Given the description of an element on the screen output the (x, y) to click on. 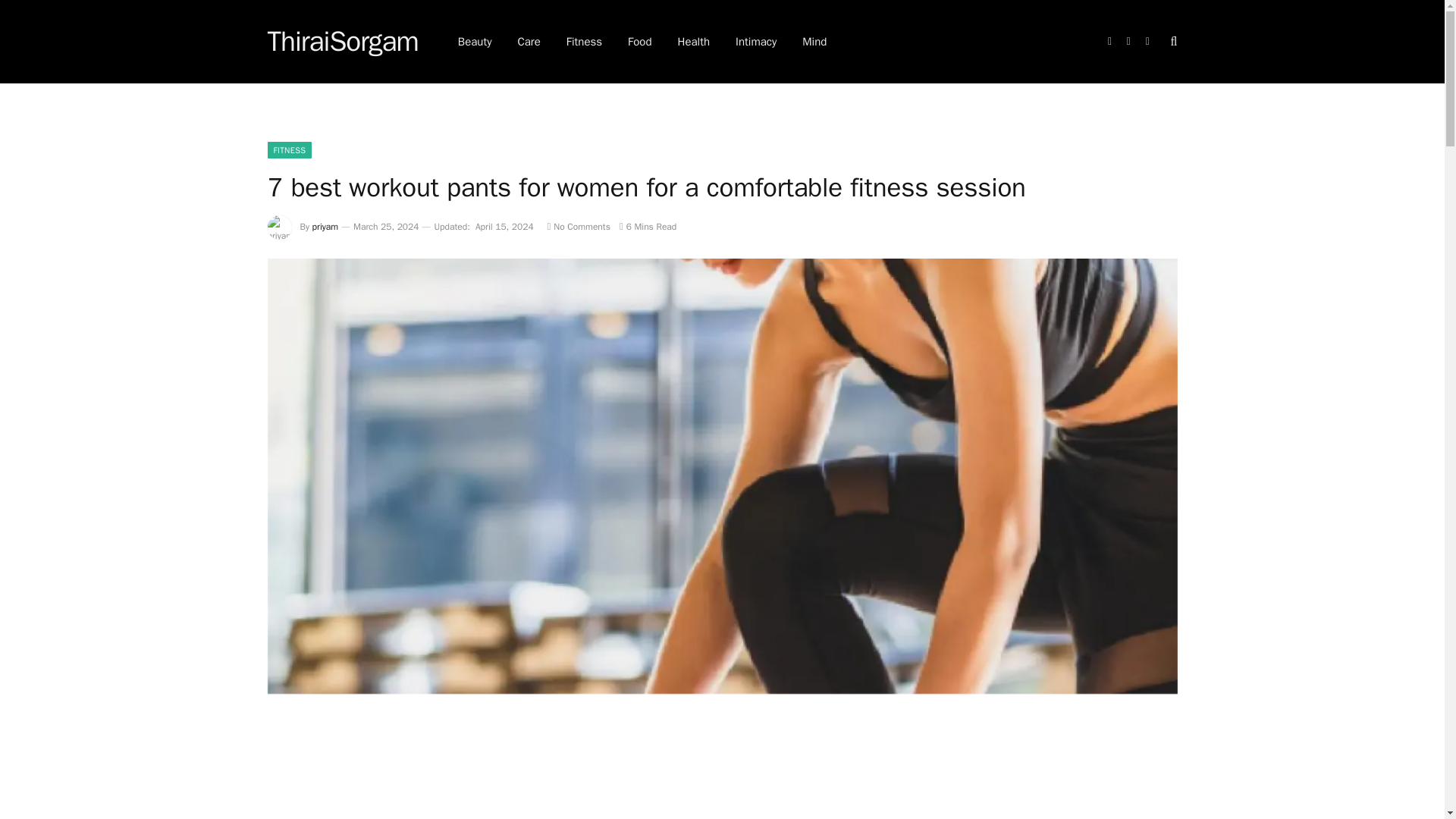
ThiraiSorgam (341, 41)
priyam (326, 226)
ThiraiSorgam (341, 41)
No Comments (578, 226)
Posts by priyam (326, 226)
FITNESS (288, 149)
